Given the description of an element on the screen output the (x, y) to click on. 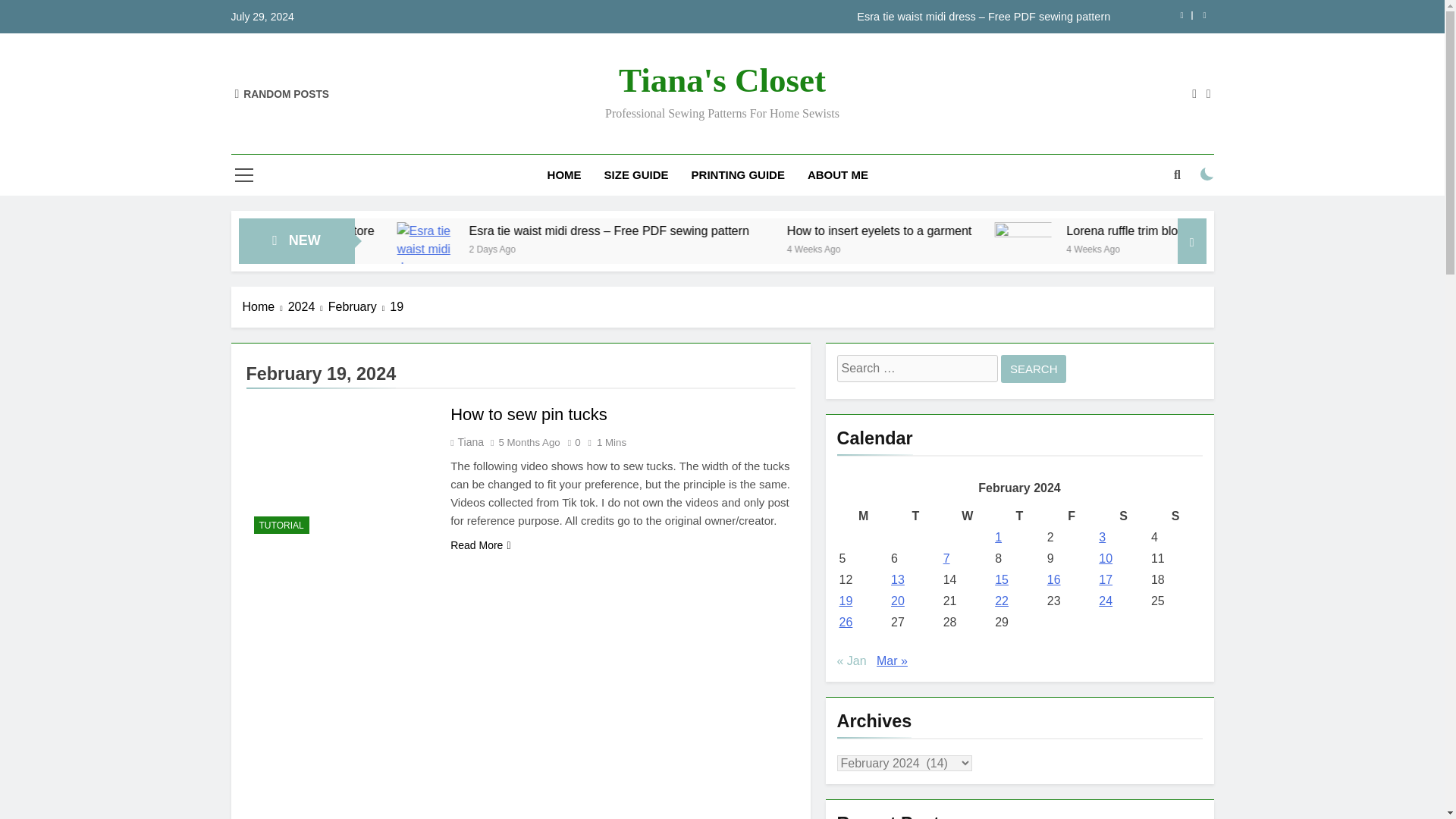
HOME (563, 174)
Tiana'S Closet (721, 80)
9 Months Ago (423, 247)
How to insert eyelets to a garment (1067, 230)
Search (1034, 368)
How to insert eyelets to a garment (1023, 230)
RANDOM POSTS (282, 92)
Search (1034, 368)
ABOUT ME (837, 174)
SIZE GUIDE (635, 174)
PRINTING GUIDE (737, 174)
4 Weeks Ago (1000, 247)
2 Days Ago (682, 247)
on (1206, 173)
